Given the description of an element on the screen output the (x, y) to click on. 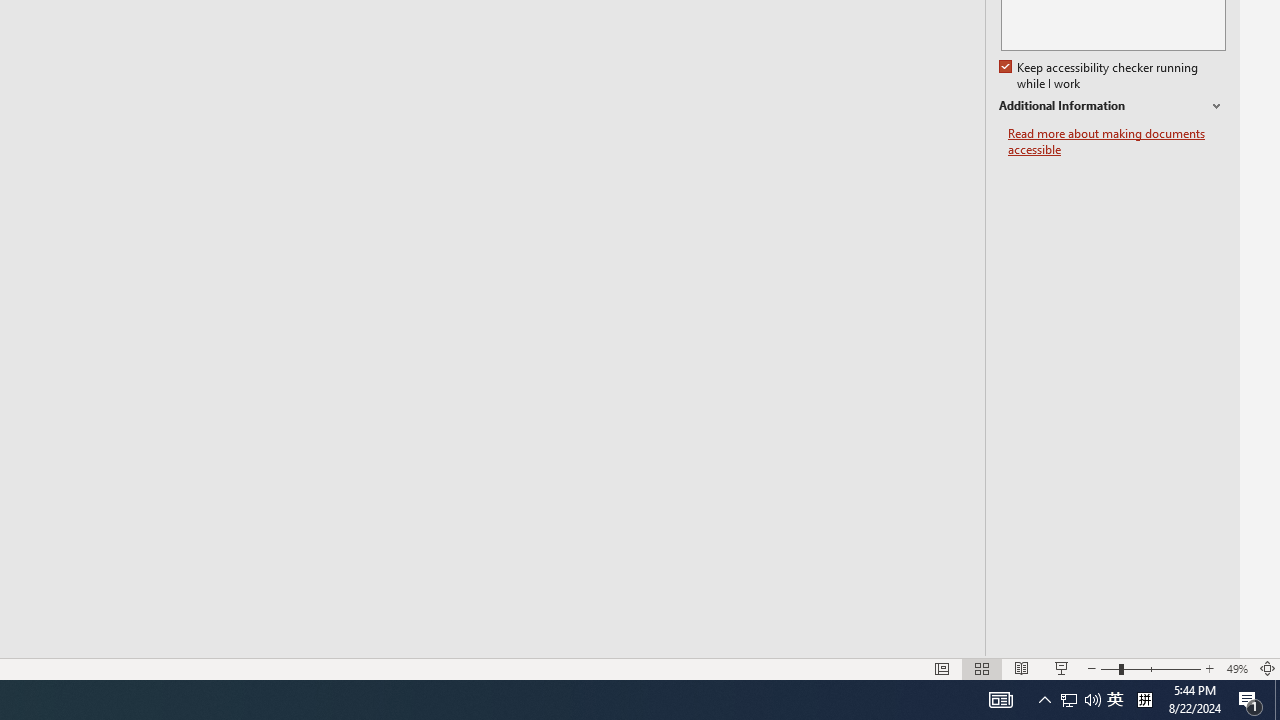
Zoom Out (1109, 668)
Normal (941, 668)
Keep accessibility checker running while I work (1099, 76)
Read more about making documents accessible (1117, 142)
Zoom (1150, 668)
Zoom to Fit  (1267, 668)
Zoom In (1209, 668)
Slide Sorter (982, 668)
Slide Show (1061, 668)
Zoom 49% (1236, 668)
Reading View (1021, 668)
Additional Information (1112, 106)
